Given the description of an element on the screen output the (x, y) to click on. 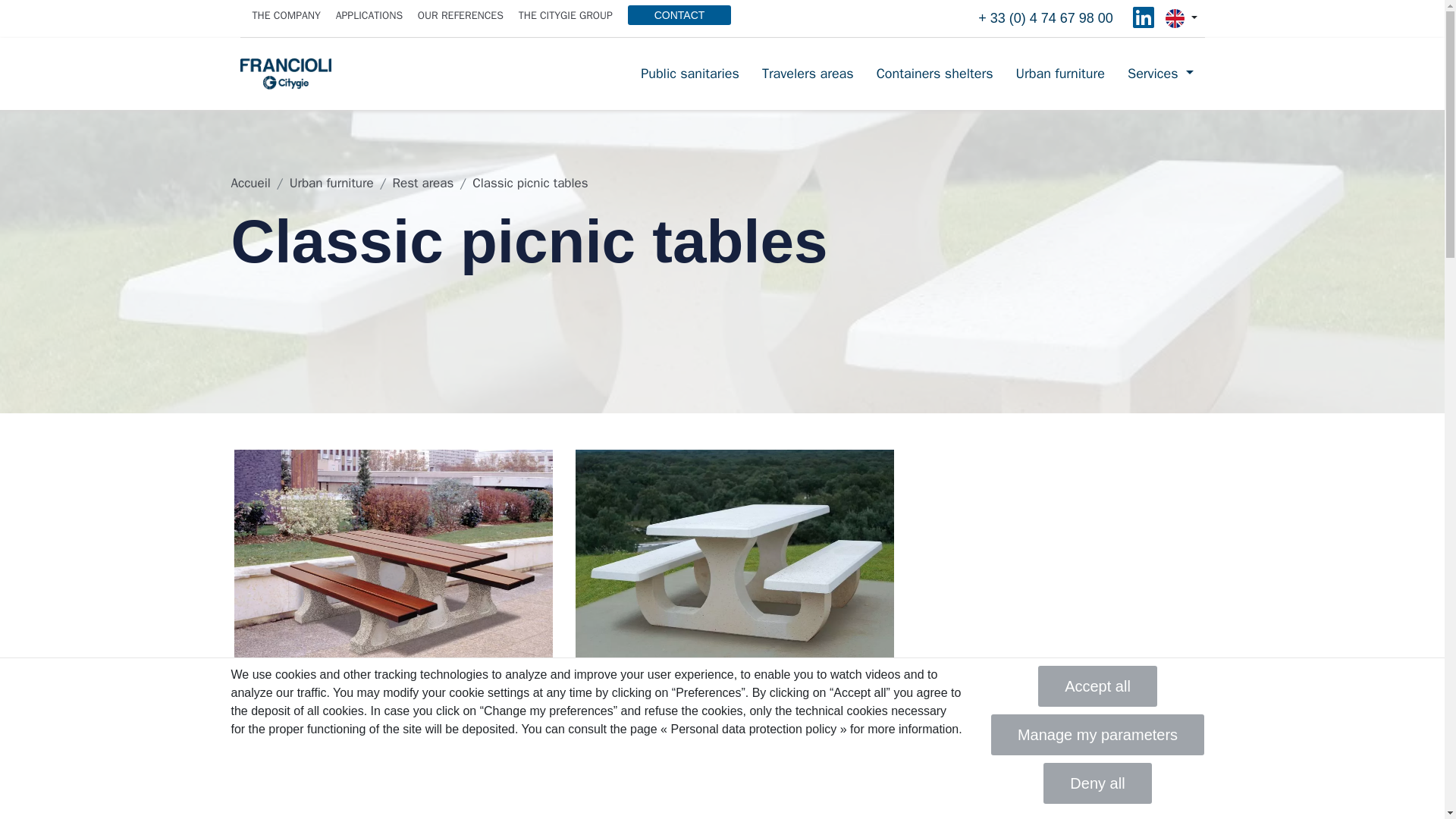
Public sanitaries (689, 73)
THE COMPANY (285, 15)
Services (1160, 73)
Travelers areas (807, 73)
Classic picnic tables (529, 182)
Containers shelters (934, 73)
Rest areas (421, 182)
Urban furniture (1060, 73)
OUR REFERENCES (460, 15)
Accueil (249, 182)
